Given the description of an element on the screen output the (x, y) to click on. 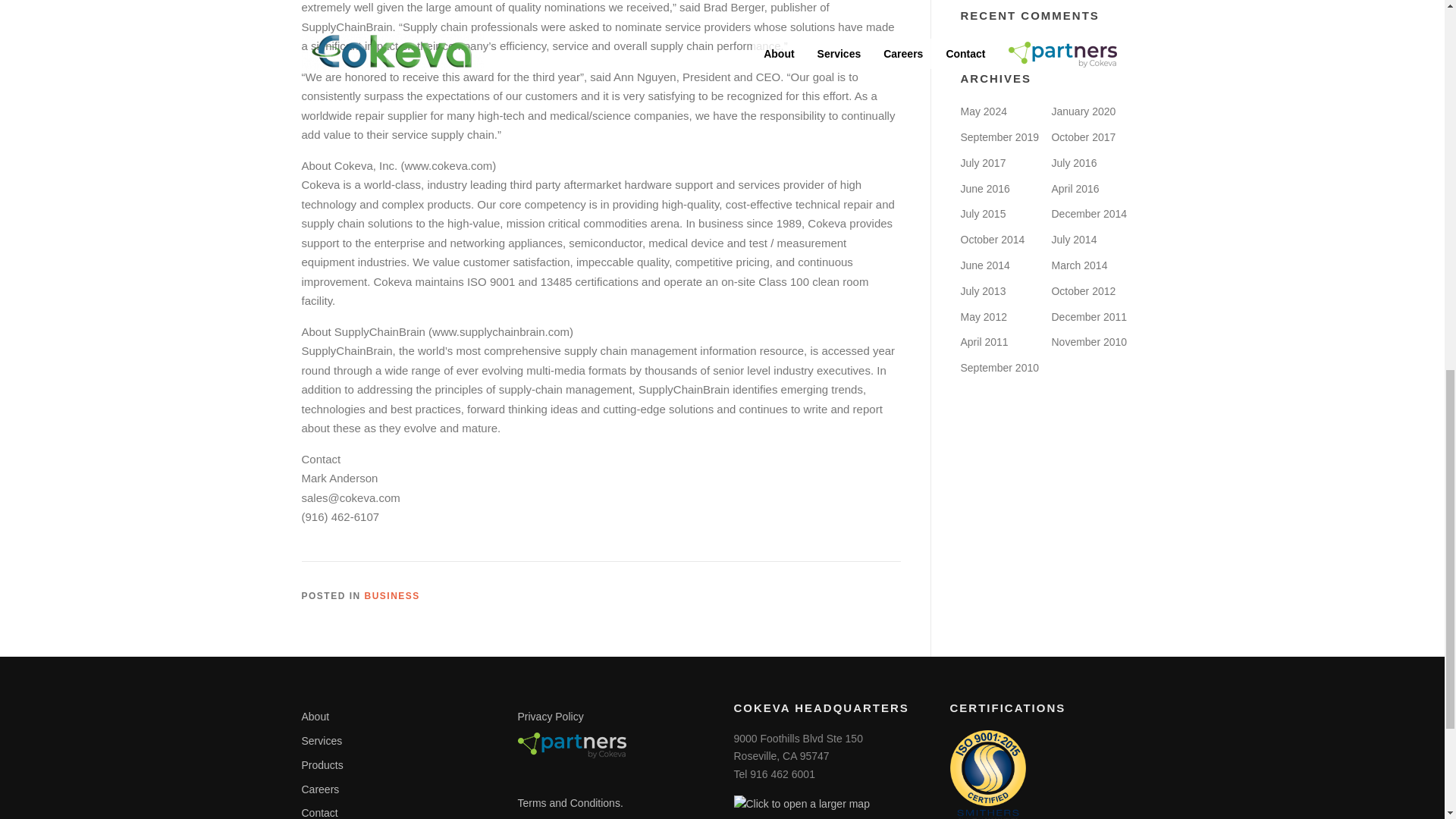
December 2011 (1088, 316)
December 2014 (1088, 214)
June 2016 (984, 188)
Click to open a larger map (801, 804)
BUSINESS (392, 595)
June 2014 (984, 265)
July 2014 (1073, 239)
Click to open a larger map (801, 803)
April 2011 (983, 341)
October 2014 (992, 239)
July 2017 (982, 162)
July 2016 (1073, 162)
May 2024 (982, 111)
March 2014 (1078, 265)
September 2019 (999, 137)
